Given the description of an element on the screen output the (x, y) to click on. 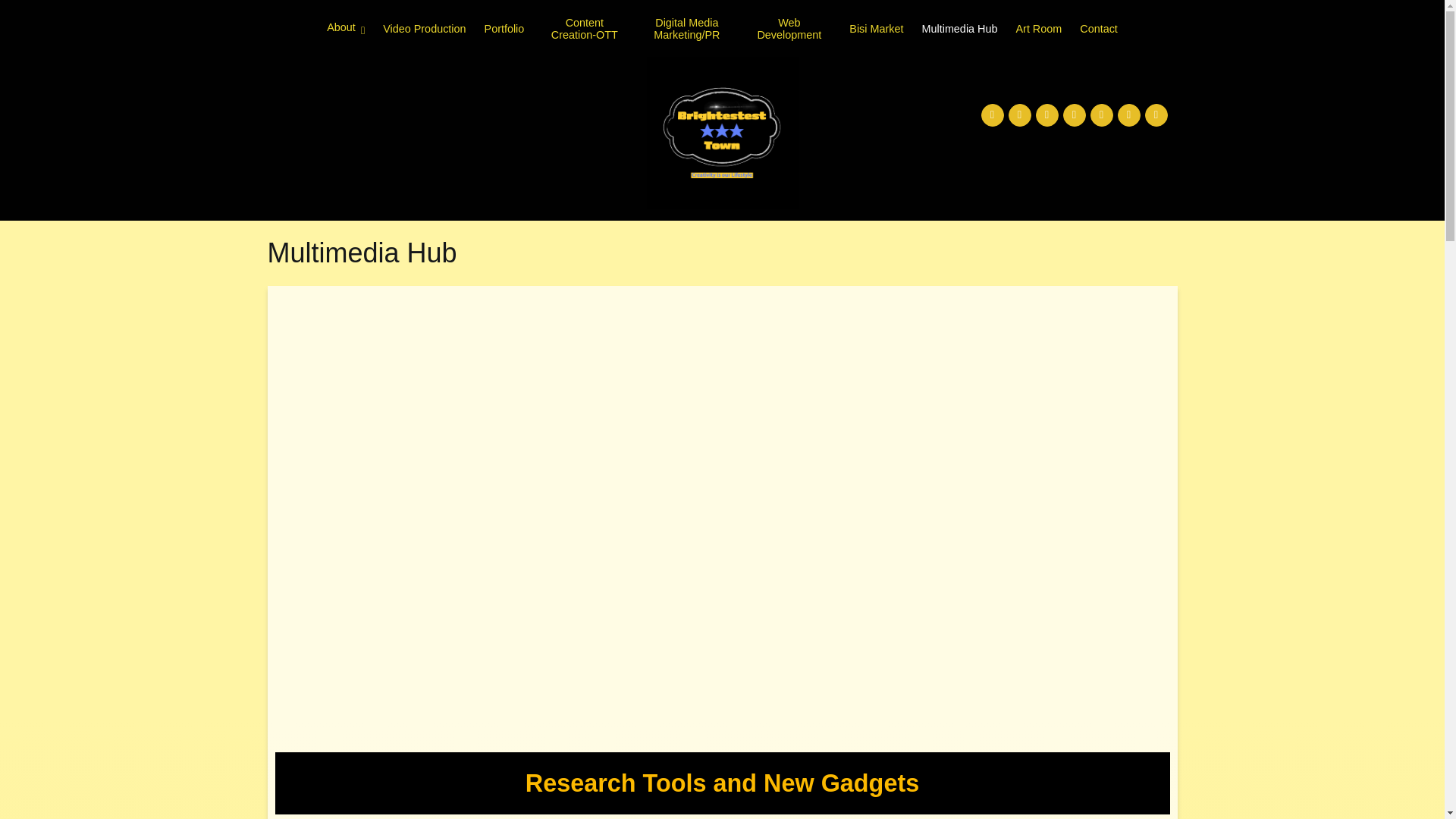
Brightest Town (844, 143)
About (345, 28)
Content Creation-OTT (583, 28)
Portfolio (504, 28)
Web Development (788, 28)
Video Production (423, 28)
Art Room (1037, 28)
Multimedia Hub (959, 28)
Bisi Market (875, 28)
Contact (1099, 28)
